Given the description of an element on the screen output the (x, y) to click on. 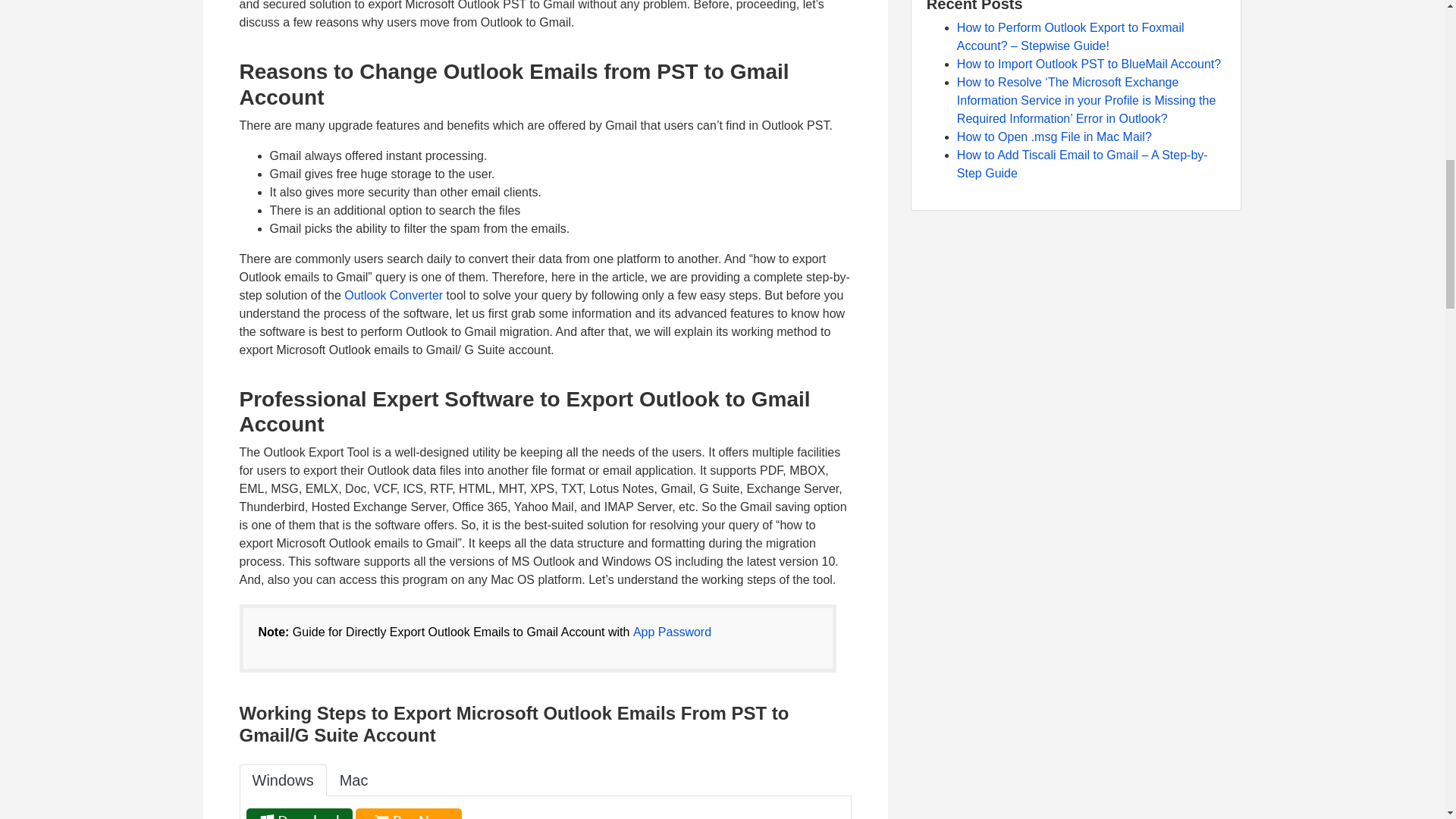
Windows (283, 780)
Outlook Converter (392, 295)
Mac (353, 780)
App Password (672, 631)
How to Import Outlook PST to BlueMail Account? (1088, 63)
How to Open .msg File in Mac Mail? (1053, 136)
